Given the description of an element on the screen output the (x, y) to click on. 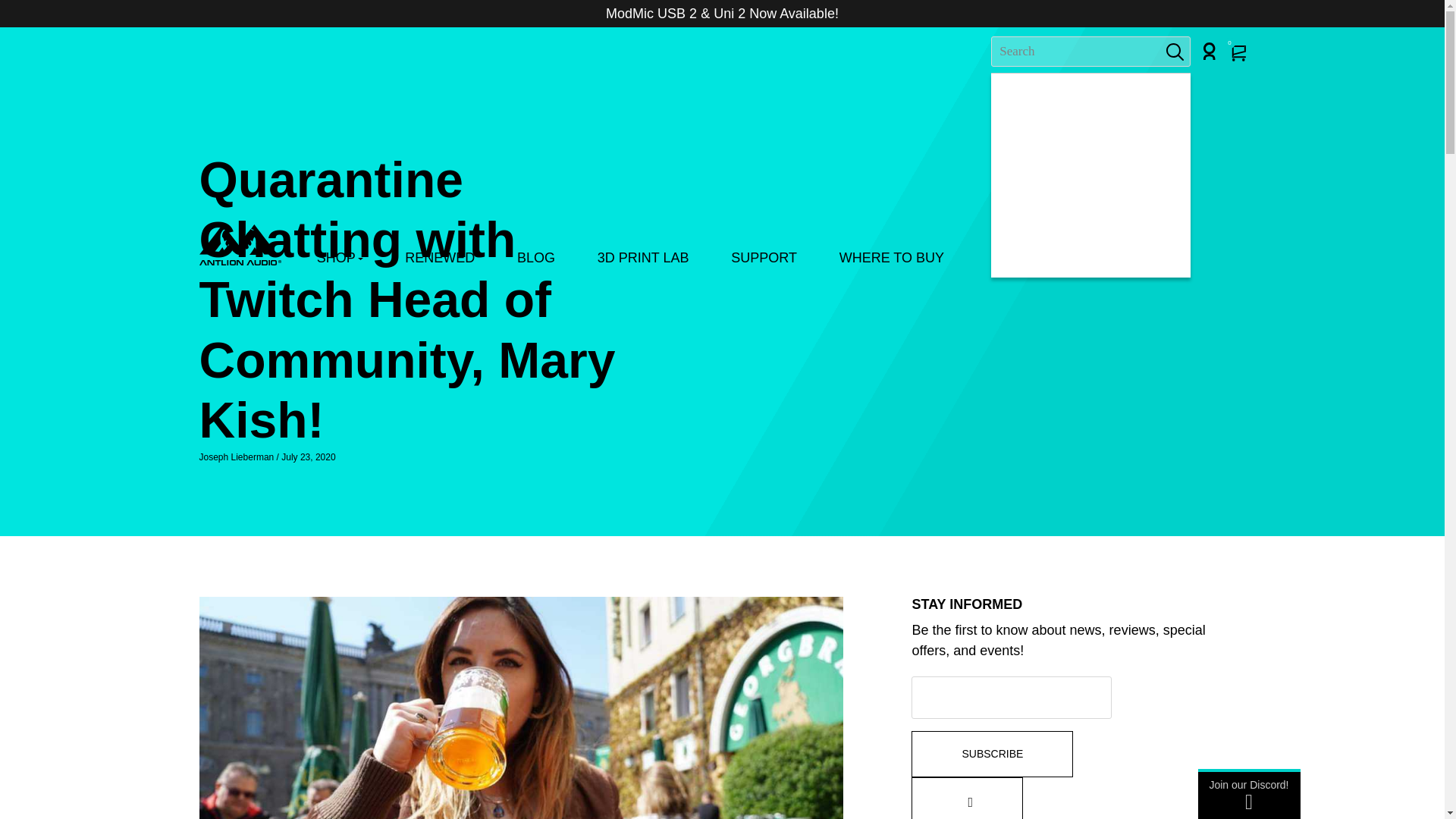
SHOP (339, 262)
SUPPORT (763, 263)
WHERE TO BUY (891, 263)
BLOG (535, 263)
RENEWED (439, 262)
Join our Discord! (1249, 794)
3D PRINT LAB (642, 263)
